Given the description of an element on the screen output the (x, y) to click on. 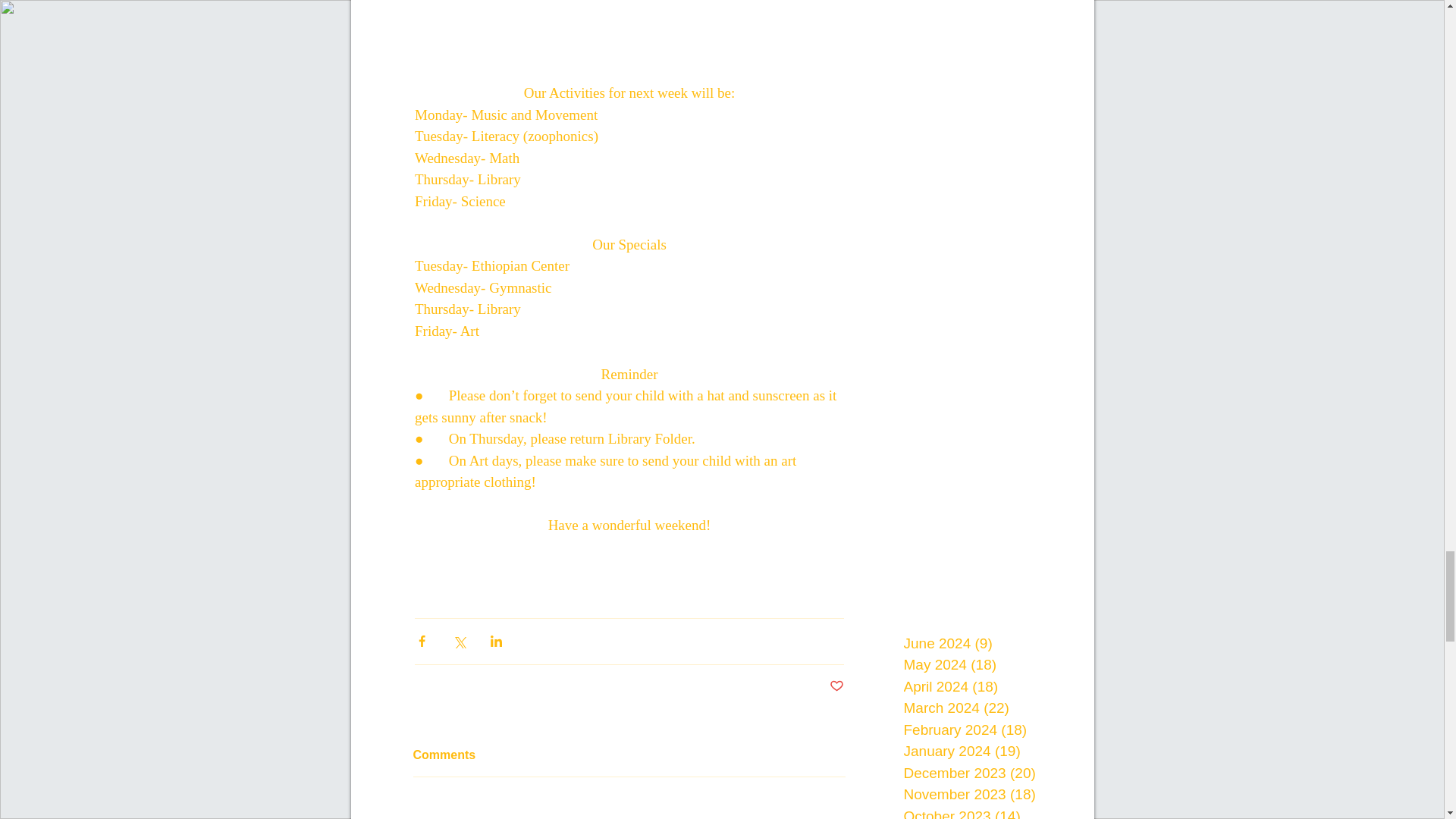
Write a comment... (628, 811)
Post not marked as liked (836, 686)
